Given the description of an element on the screen output the (x, y) to click on. 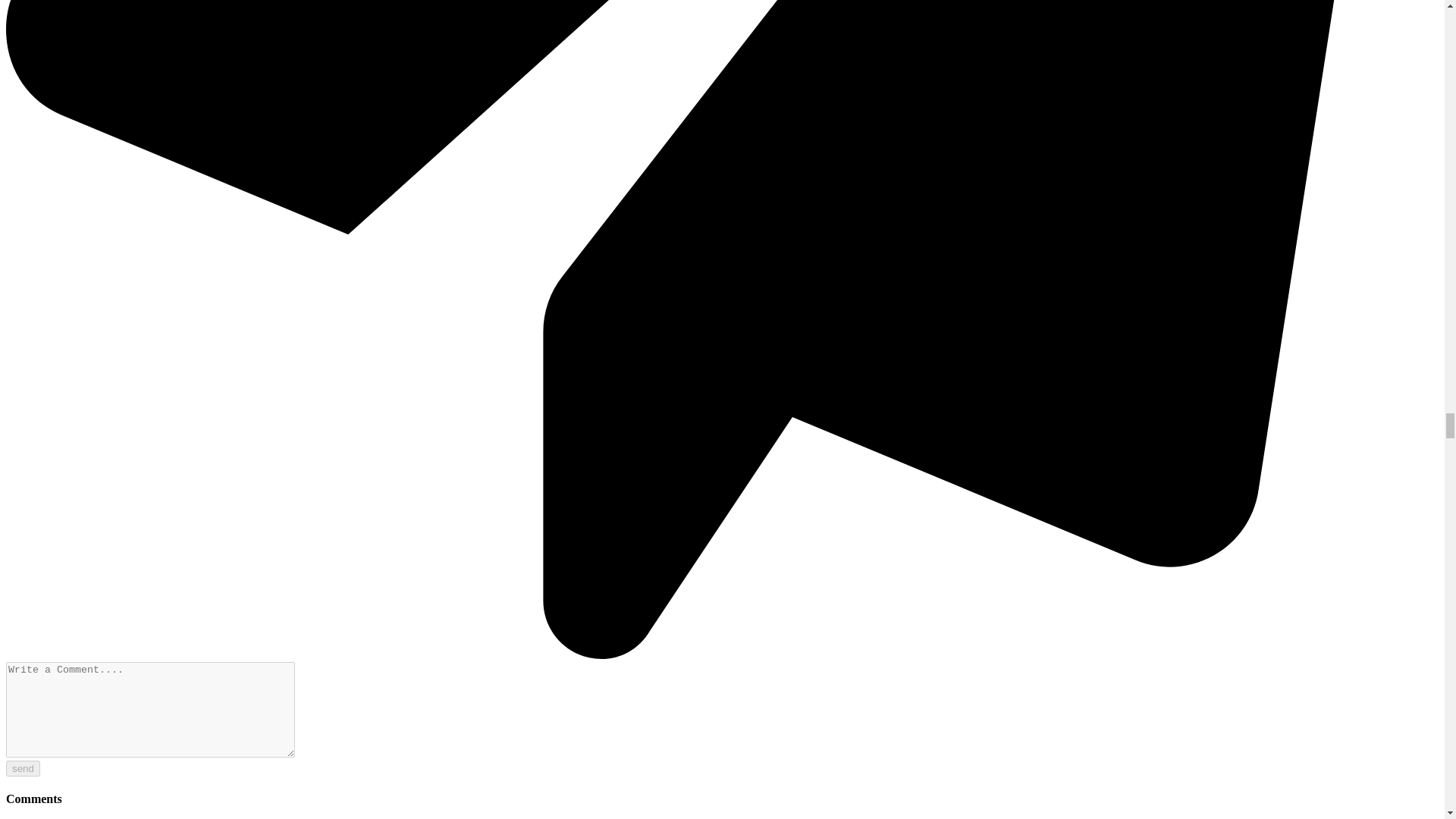
send (22, 768)
